Given the description of an element on the screen output the (x, y) to click on. 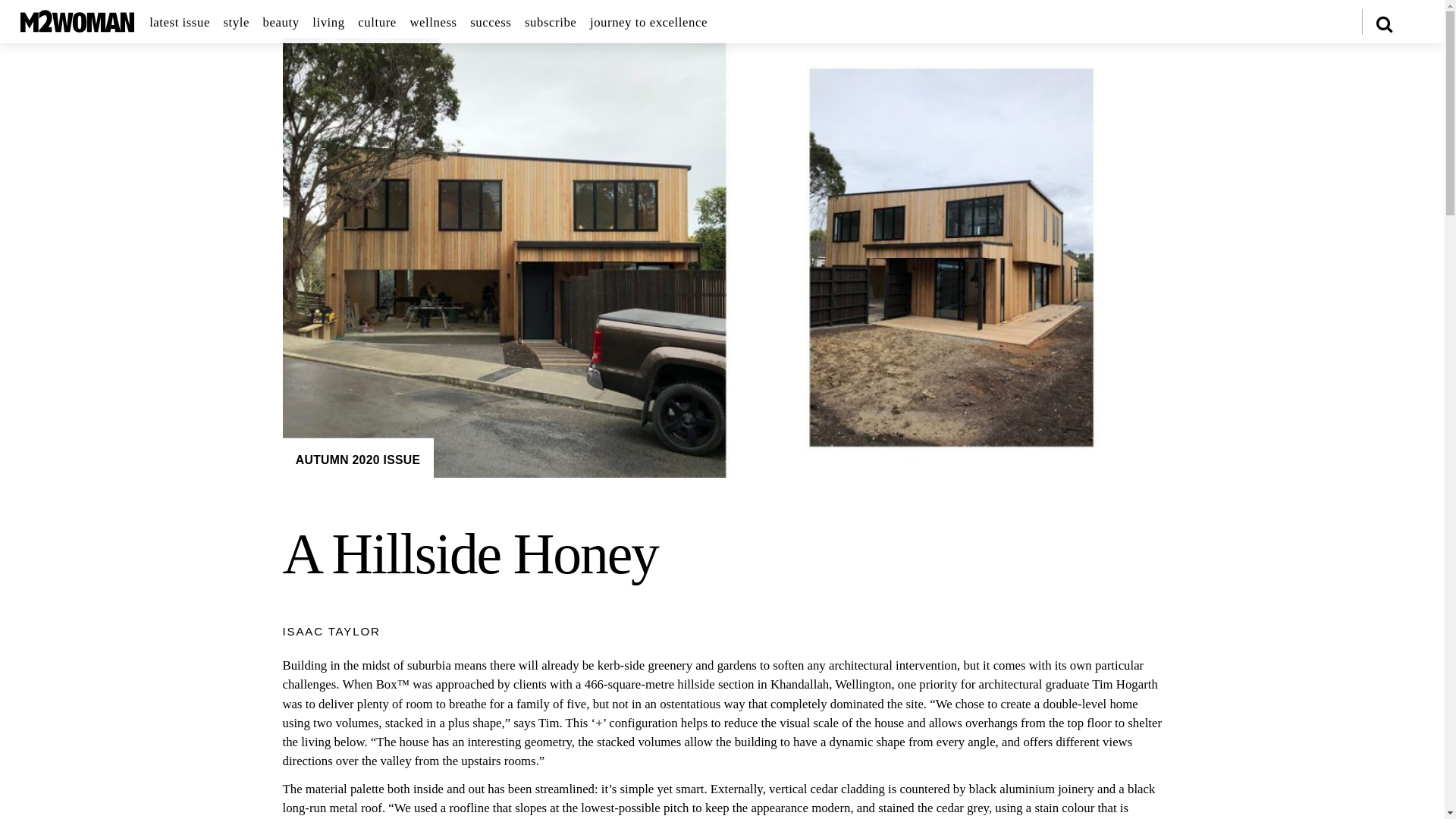
M2woman (76, 25)
subscribe (550, 22)
style (236, 22)
success (490, 22)
M2woman (76, 20)
wellness (433, 22)
beauty (281, 22)
AUTUMN 2020 ISSUE (357, 459)
ISAAC TAYLOR (331, 631)
A Hillside Honey (470, 553)
culture (377, 22)
latest issue (179, 22)
living (328, 22)
journey to excellence (648, 22)
